Given the description of an element on the screen output the (x, y) to click on. 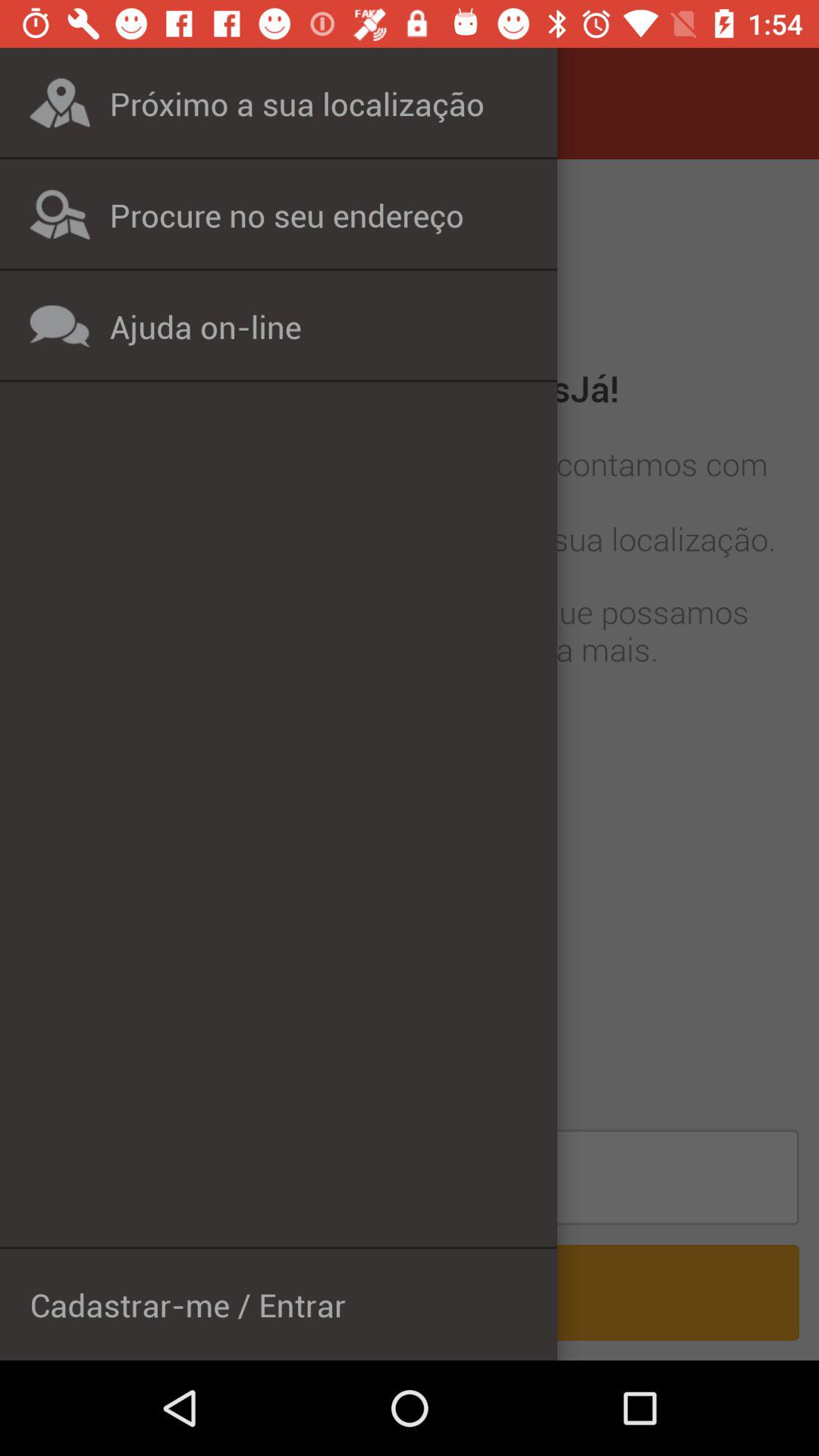
select on icon which is top left corner (60, 103)
select the bottom line on the screen cadastrarme  entrar (409, 1292)
click on the  messages image icon before ajuda online text (60, 326)
